Given the description of an element on the screen output the (x, y) to click on. 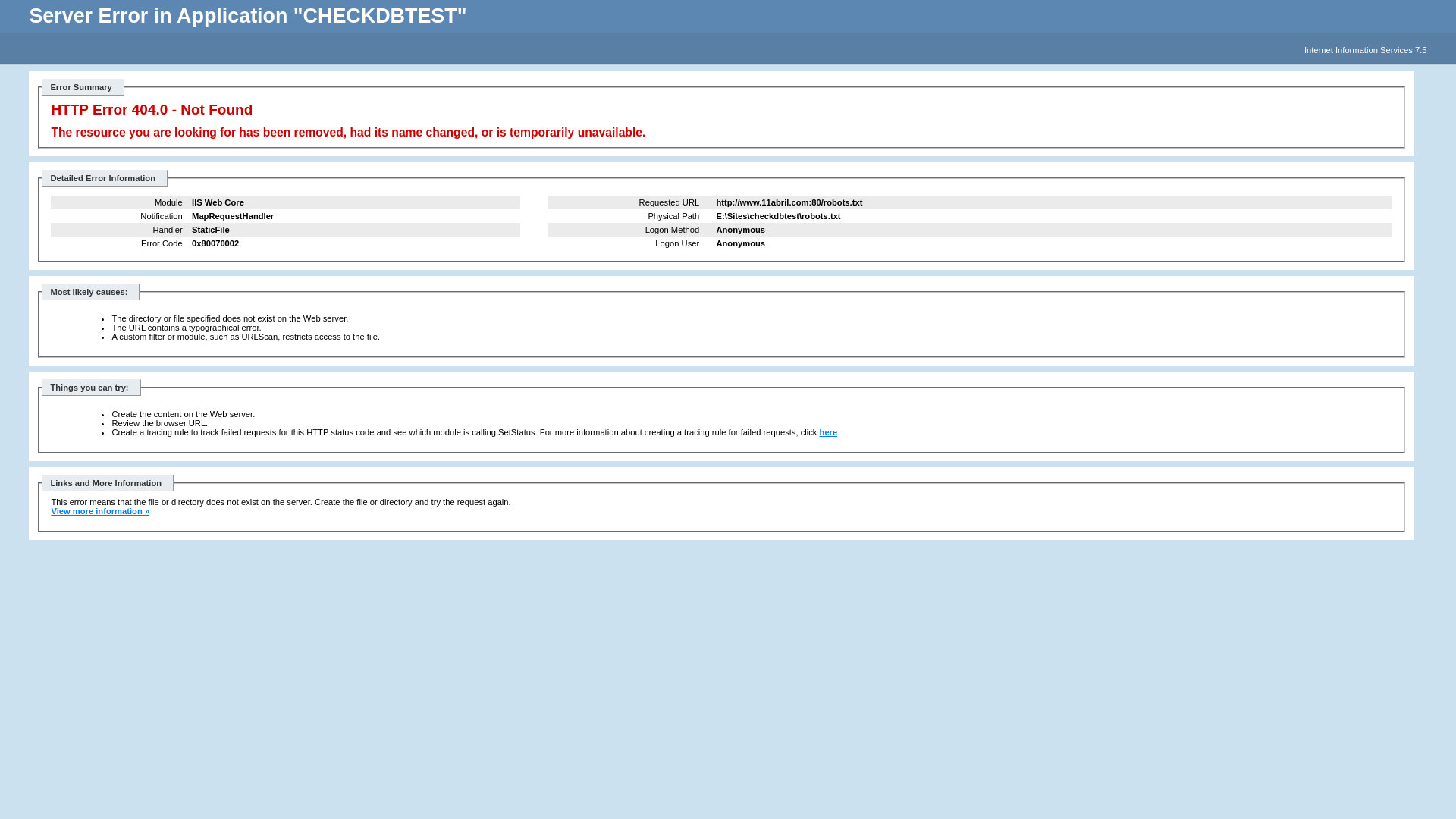
here Element type: text (828, 431)
